Given the description of an element on the screen output the (x, y) to click on. 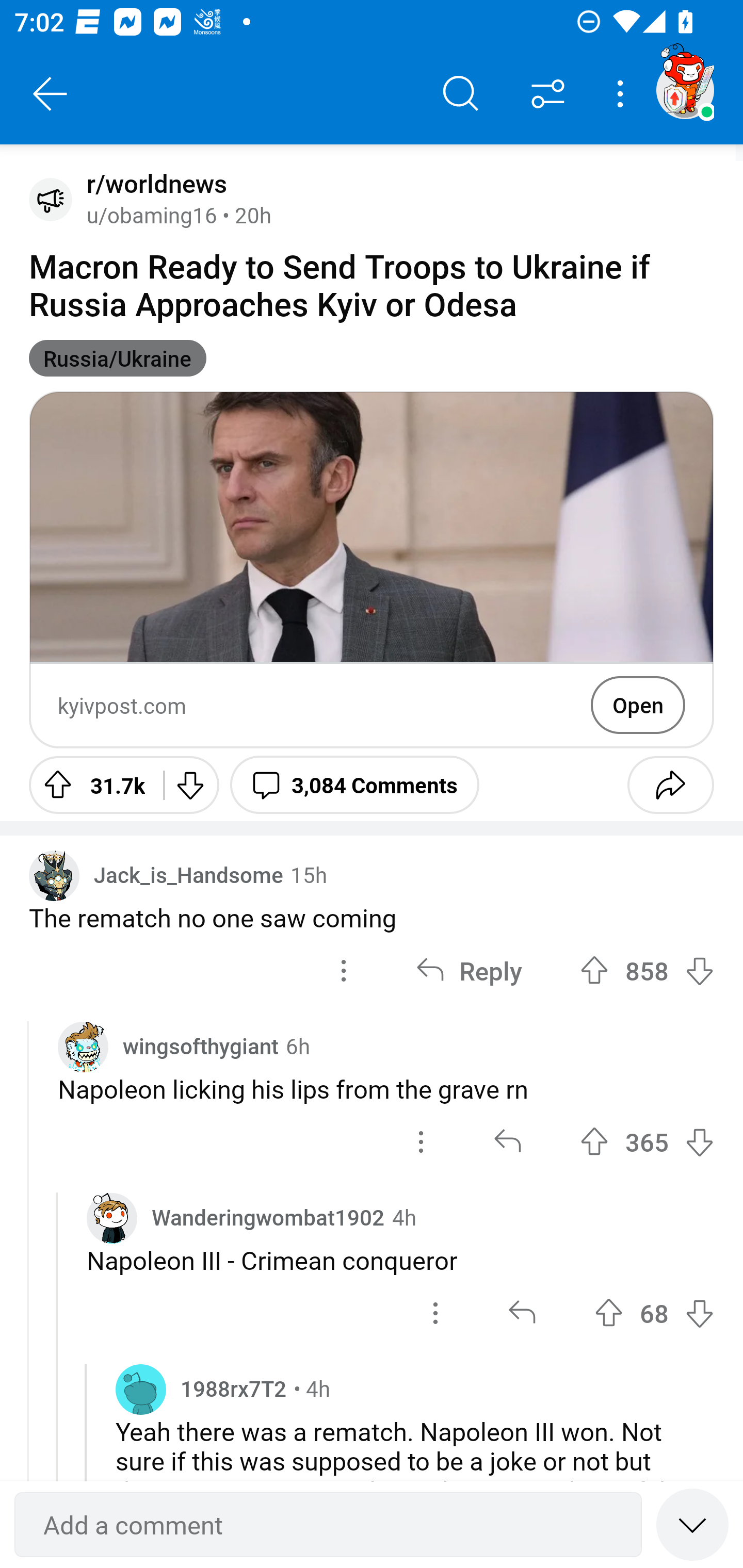
Back (50, 93)
TestAppium002 account (685, 90)
Search comments (460, 93)
Sort comments (547, 93)
More options (623, 93)
r/worldnews (153, 183)
Avatar (50, 199)
Russia/Ukraine (117, 358)
Preview Image kyivpost.com Open (371, 568)
Open (637, 704)
Upvote 31.7k (88, 784)
Downvote (189, 784)
3,084 Comments (354, 784)
Share (670, 784)
Custom avatar (53, 874)
The rematch no one saw coming (371, 917)
options (343, 970)
Reply (469, 970)
Upvote 858 858 votes Downvote (647, 970)
Custom avatar (82, 1047)
Napoleon licking his lips from the grave rn (385, 1088)
options (420, 1141)
Upvote 365 365 votes Downvote (647, 1141)
Custom avatar (111, 1218)
Napoleon III - Crimean conqueror (400, 1259)
options (435, 1313)
Upvote 68 68 votes Downvote (654, 1313)
Avatar (140, 1389)
Speed read (692, 1524)
Add a comment (327, 1524)
